Given the description of an element on the screen output the (x, y) to click on. 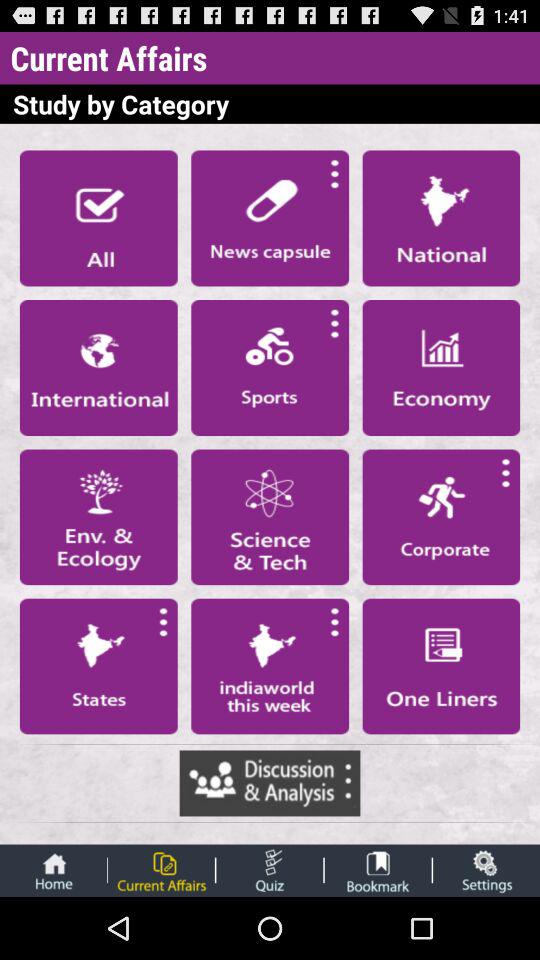
go to the states category (98, 666)
